Given the description of an element on the screen output the (x, y) to click on. 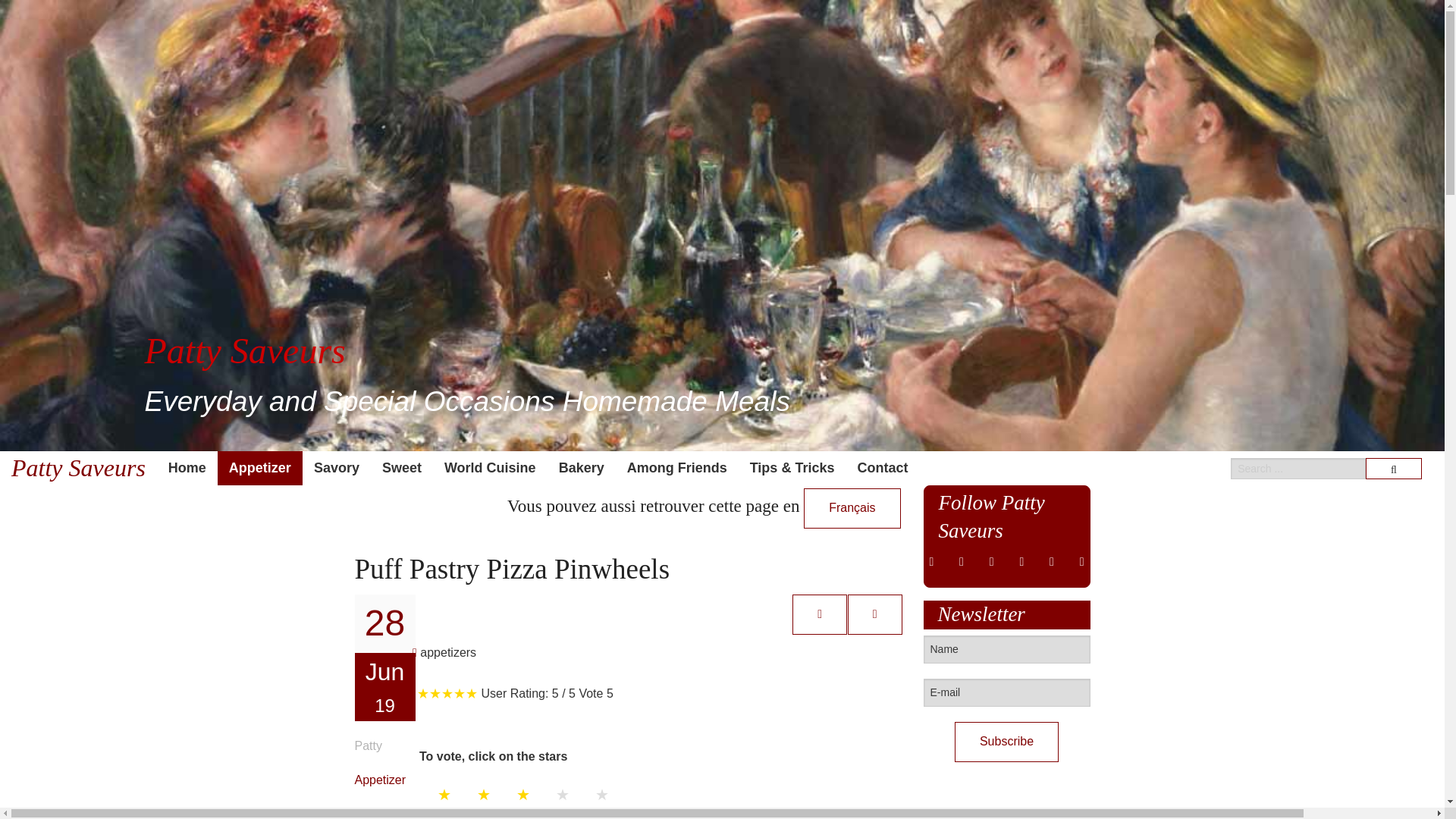
World Cuisine (489, 468)
Rate (448, 813)
Patty Saveurs (78, 468)
Bakery (581, 468)
Name (1006, 649)
Subscribe (1006, 741)
Name (1006, 649)
Email (874, 613)
Vote 4 (562, 794)
Appetizer (259, 468)
appetizers (443, 652)
Vote 2 (484, 794)
Vote 3 (523, 794)
Vote 1 (443, 794)
